Given the description of an element on the screen output the (x, y) to click on. 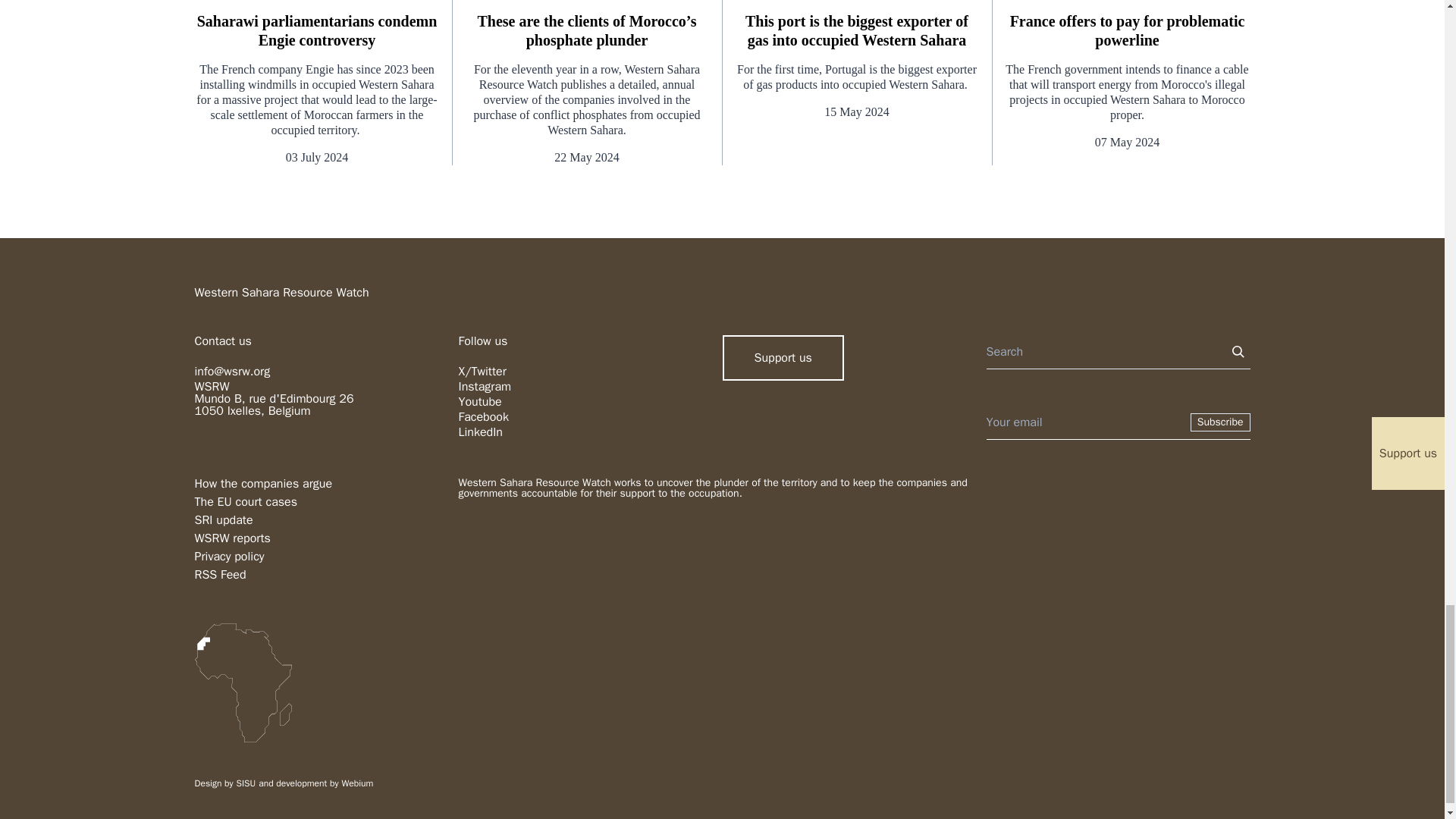
LinkedIn (480, 432)
Facebook (483, 417)
WSRW reports (231, 538)
Support us (782, 357)
The EU court cases (245, 501)
Subscribe (1220, 422)
Youtube (479, 401)
Instagram (484, 386)
Saharawi parliamentarians condemn Engie controversy (316, 30)
